Given the description of an element on the screen output the (x, y) to click on. 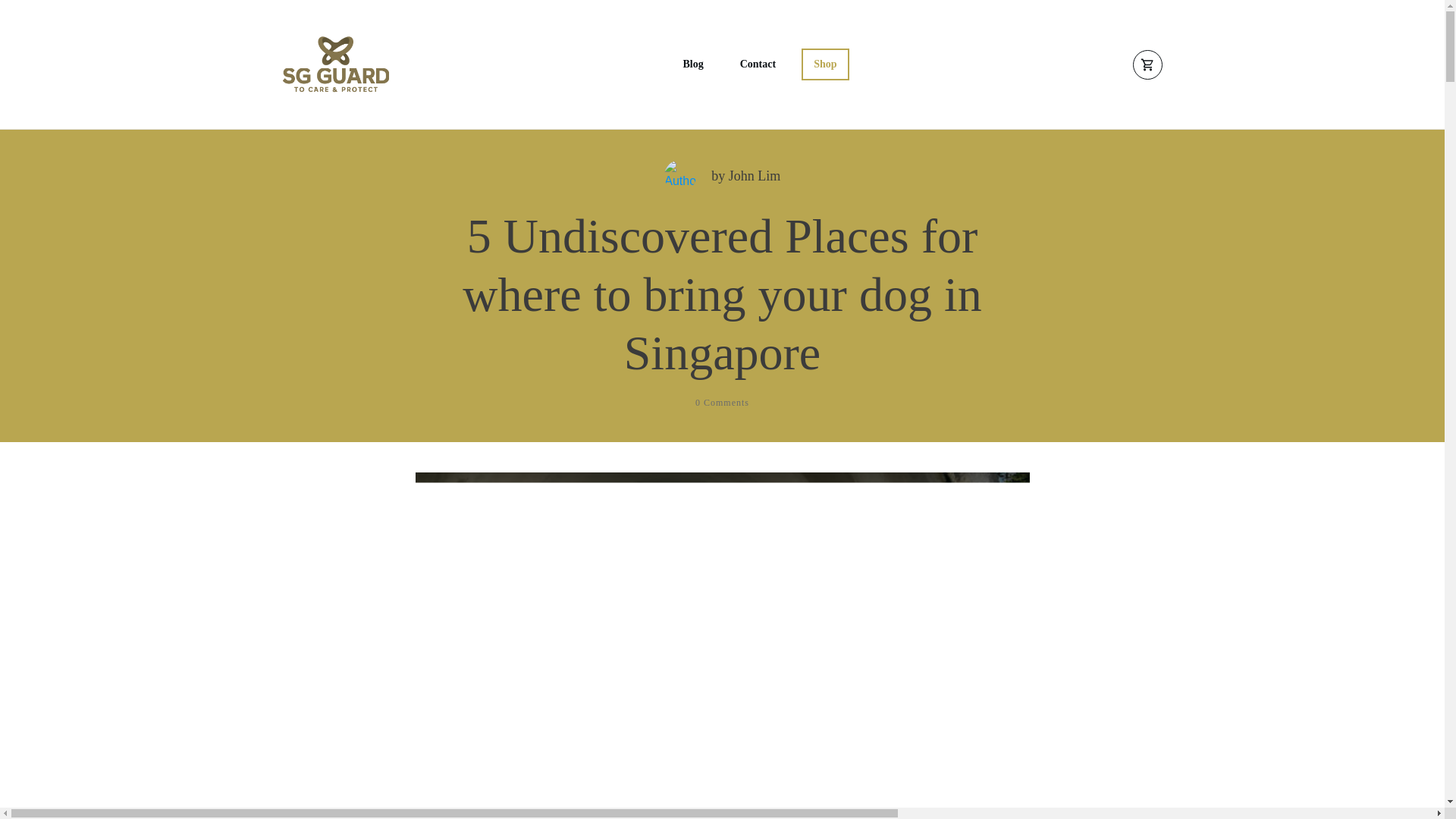
Blog (692, 64)
Contact (757, 64)
Shop (824, 64)
John Lim (754, 175)
